Given the description of an element on the screen output the (x, y) to click on. 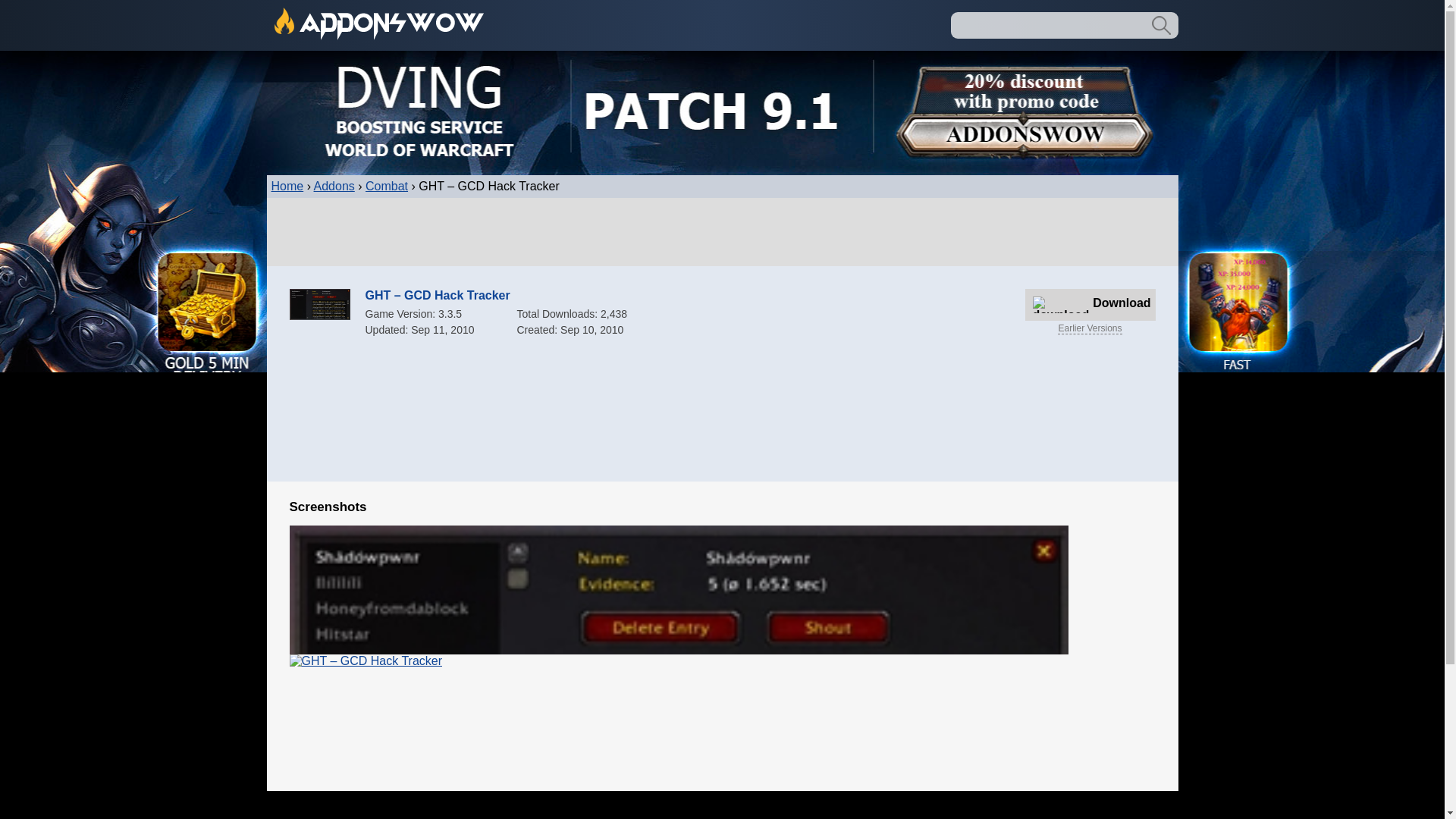
Earlier Versions (1089, 328)
Download (1090, 305)
Combat (386, 185)
Home (287, 185)
Addons (334, 185)
